Given the description of an element on the screen output the (x, y) to click on. 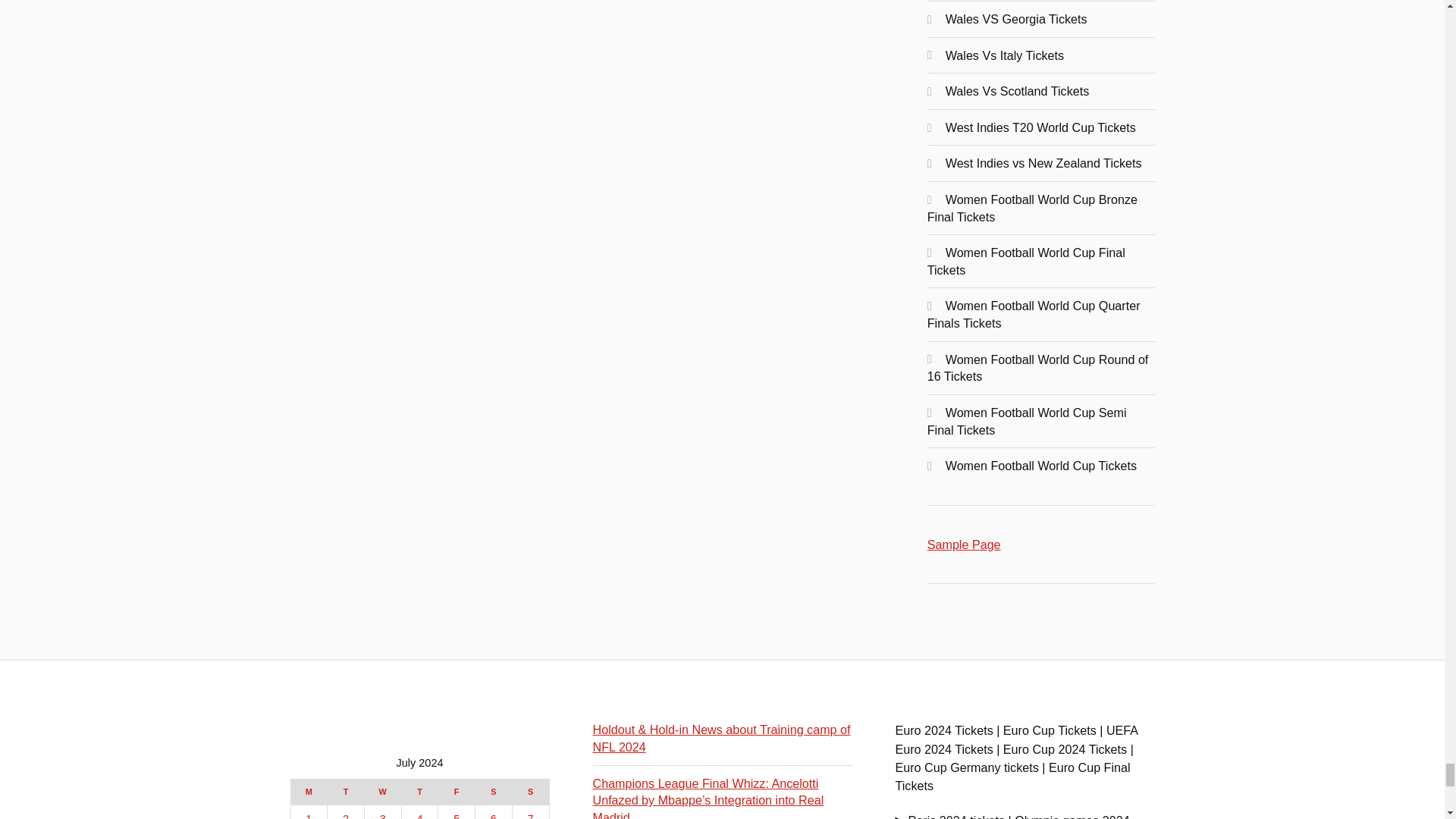
Monday (308, 792)
Wednesday (382, 792)
Tuesday (346, 792)
Friday (457, 792)
Thursday (419, 792)
Sunday (530, 792)
Saturday (494, 792)
